Given the description of an element on the screen output the (x, y) to click on. 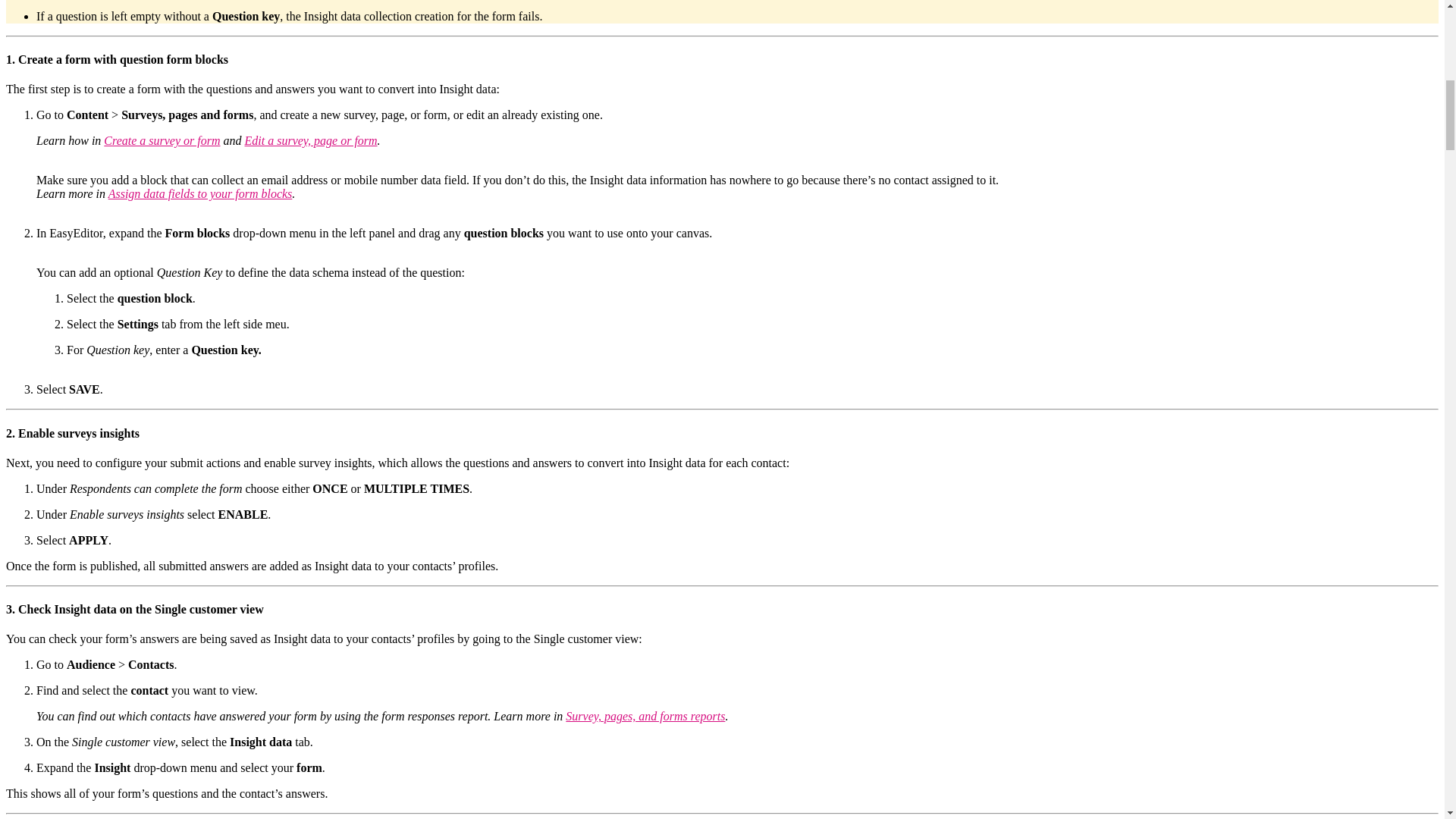
Create a survey or form (161, 140)
Survey, pages, and forms reports (645, 716)
Edit a survey, page or form (310, 140)
Assign data fields to your form blocks (199, 193)
